Given the description of an element on the screen output the (x, y) to click on. 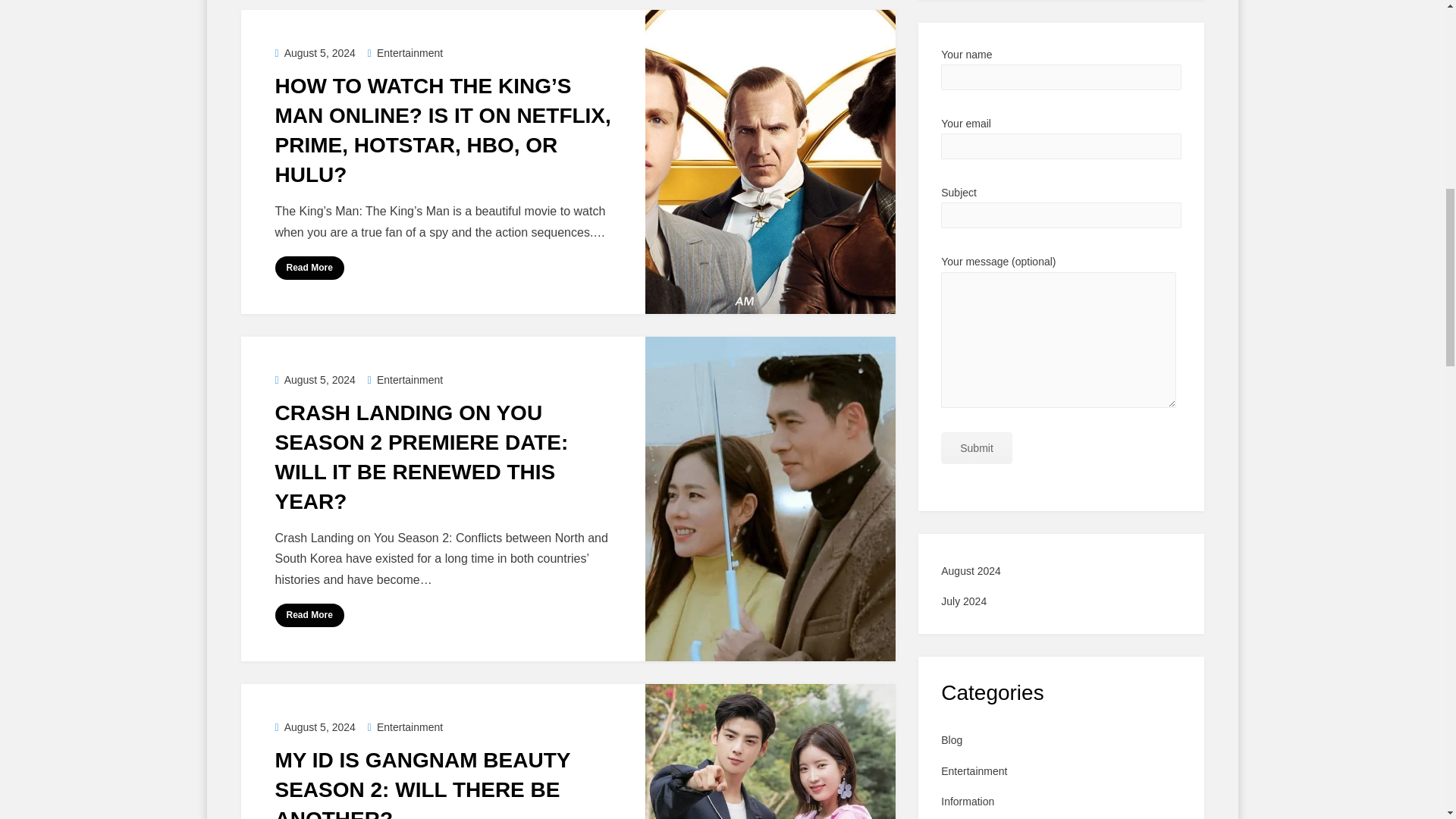
MY ID IS GANGNAM BEAUTY SEASON 2: WILL THERE BE ANOTHER? (422, 783)
Entertainment (405, 727)
Read More (309, 268)
Entertainment (405, 727)
August 5, 2024 (315, 52)
admin (312, 205)
Entertainment (405, 52)
August 5, 2024 (315, 727)
